Given the description of an element on the screen output the (x, y) to click on. 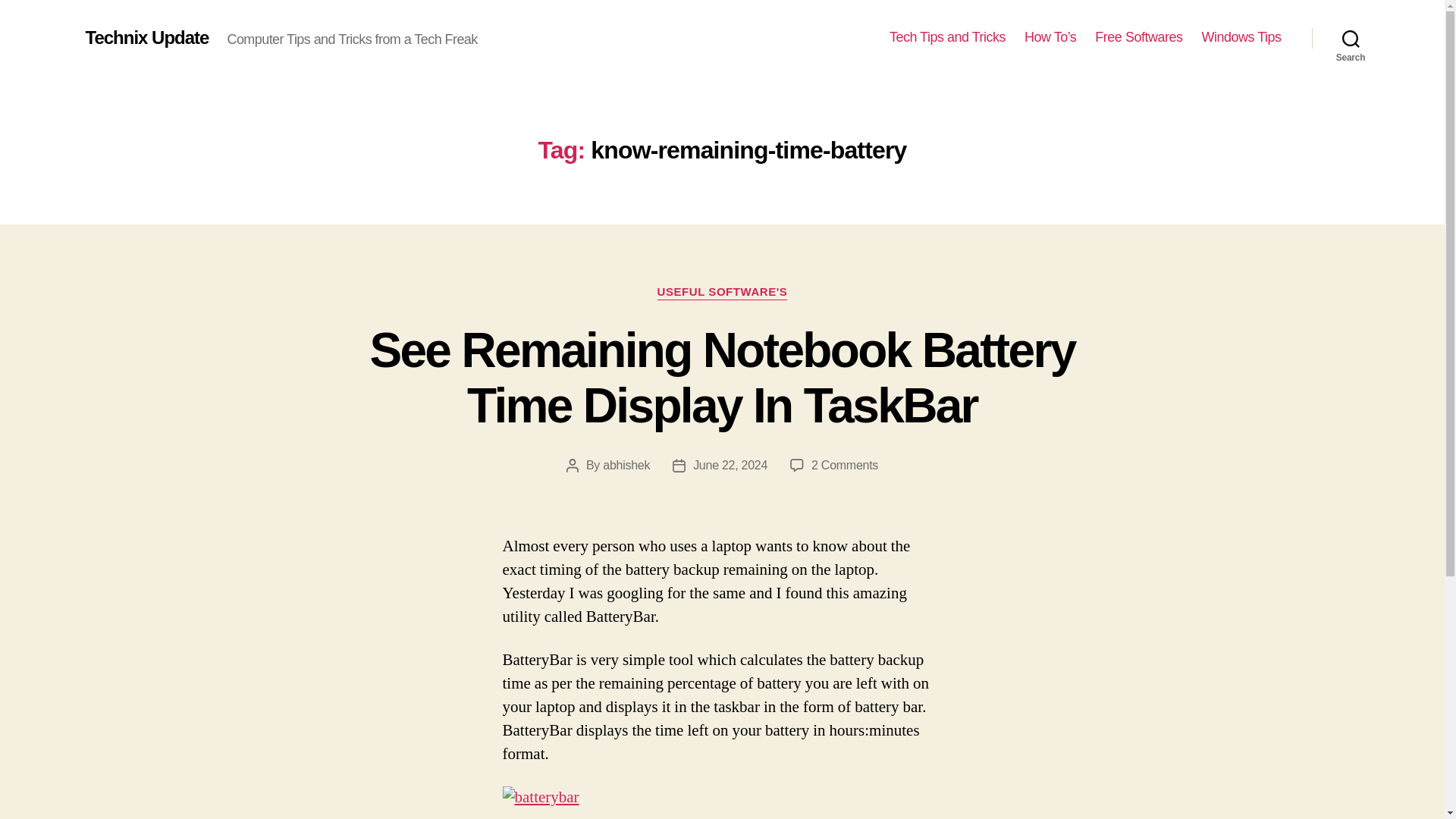
Technix Update (146, 37)
Free Softwares (1138, 37)
abhishek (625, 464)
Windows Tips (1241, 37)
batterybar (540, 797)
Tech Tips and Tricks (947, 37)
Search (1350, 37)
June 22, 2024 (730, 464)
USEFUL SOFTWARE'S (722, 292)
See Remaining Notebook Battery Time Display In TaskBar (721, 377)
